Given the description of an element on the screen output the (x, y) to click on. 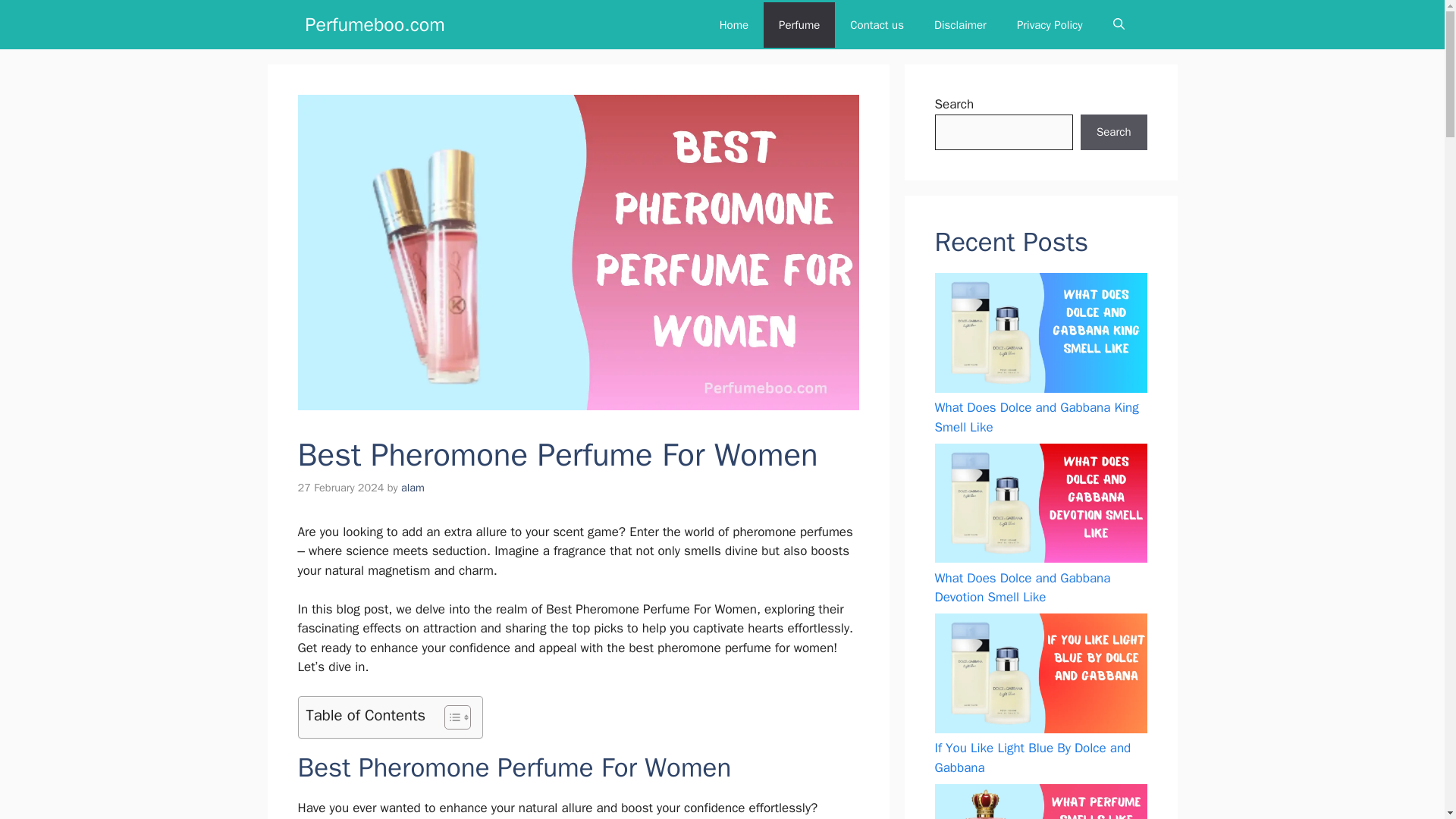
Contact us (876, 23)
alam (413, 487)
Search (1113, 131)
What Does Dolce and Gabbana King Smell Like (1036, 416)
Privacy Policy (1049, 23)
Perfumeboo.com (374, 24)
Home (733, 23)
If You Like Light Blue By Dolce and Gabbana (1032, 757)
Disclaimer (959, 23)
